Given the description of an element on the screen output the (x, y) to click on. 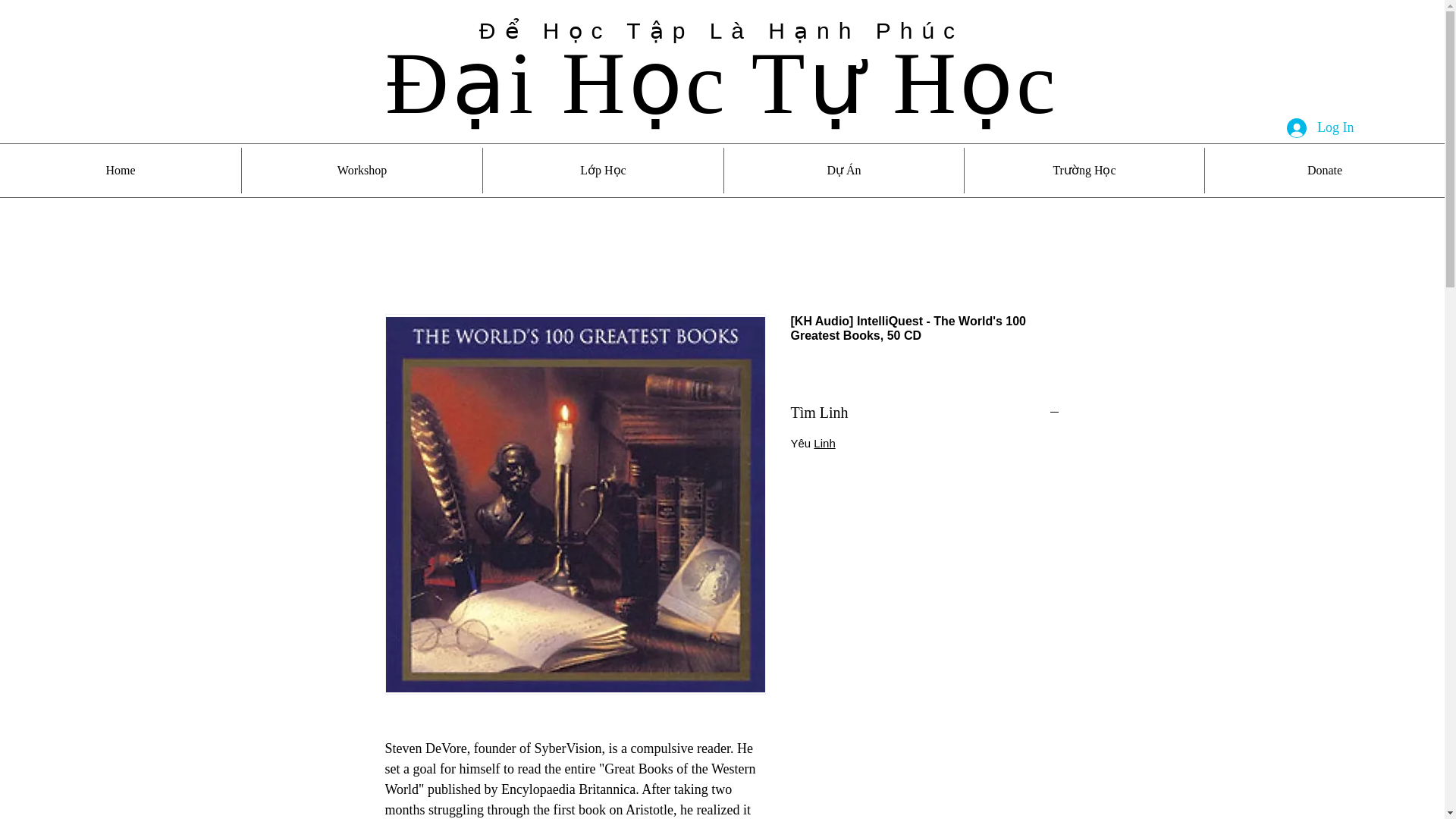
Home (120, 170)
Log In (1320, 127)
